Given the description of an element on the screen output the (x, y) to click on. 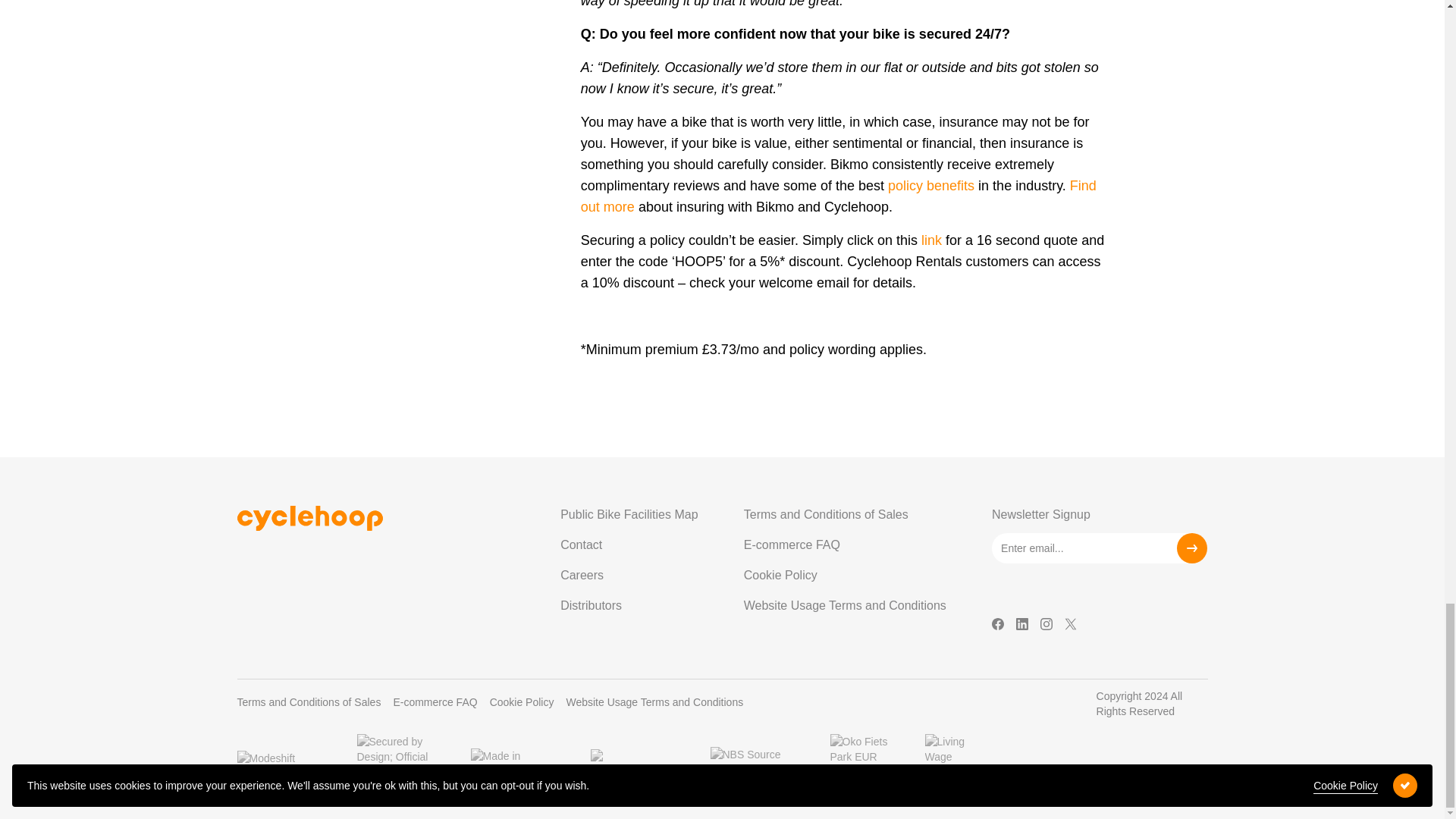
Careers (628, 575)
link (931, 240)
Public Bike Facilities Map (628, 514)
Contact (628, 544)
policy benefits (931, 185)
Find out more (838, 196)
Distributors (628, 605)
